Given the description of an element on the screen output the (x, y) to click on. 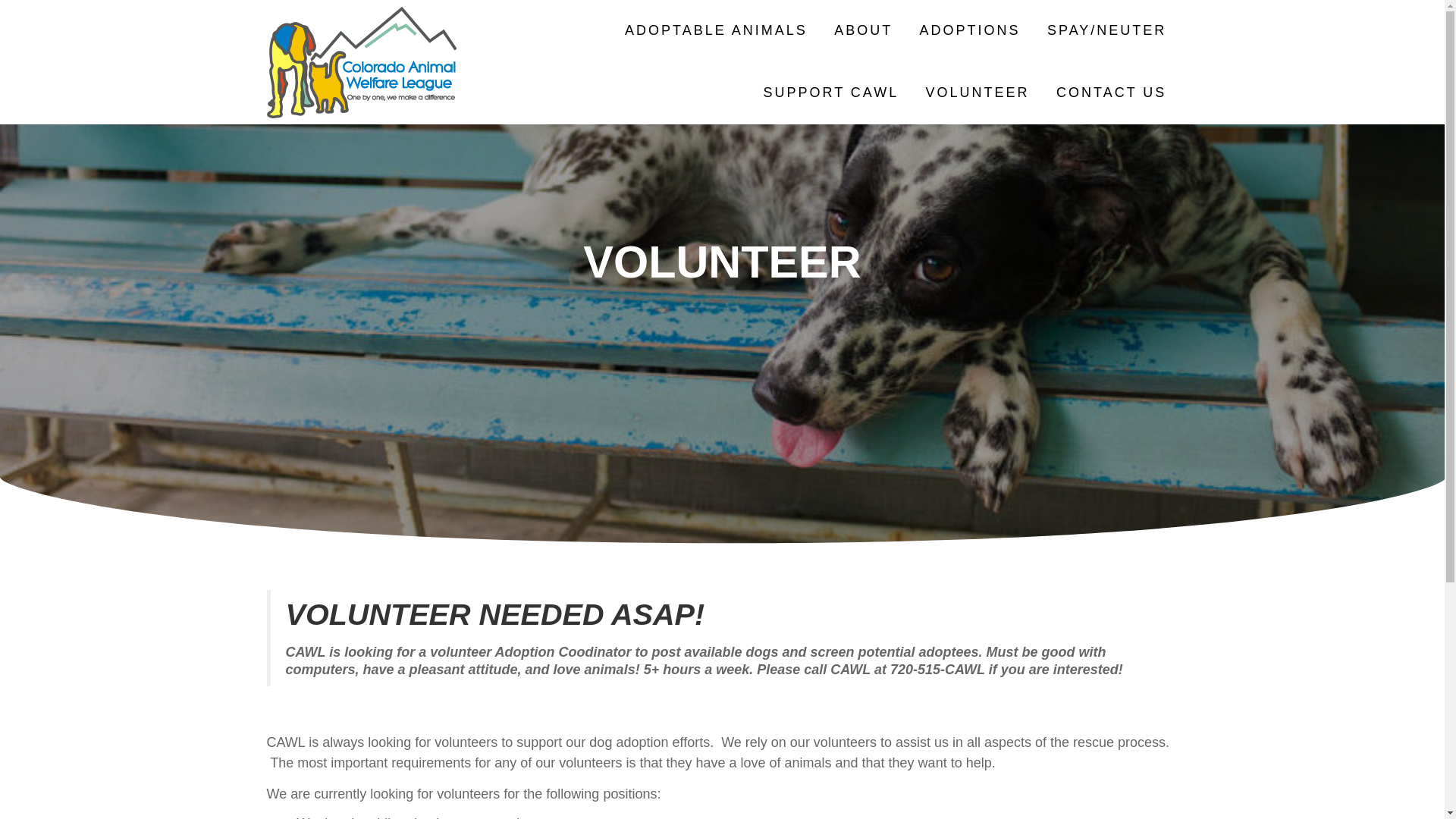
ABOUT (863, 31)
VOLUNTEER (977, 93)
CONTACT US (1111, 93)
ADOPTIONS (970, 31)
SUPPORT CAWL (830, 93)
ADOPTABLE ANIMALS (716, 31)
